Given the description of an element on the screen output the (x, y) to click on. 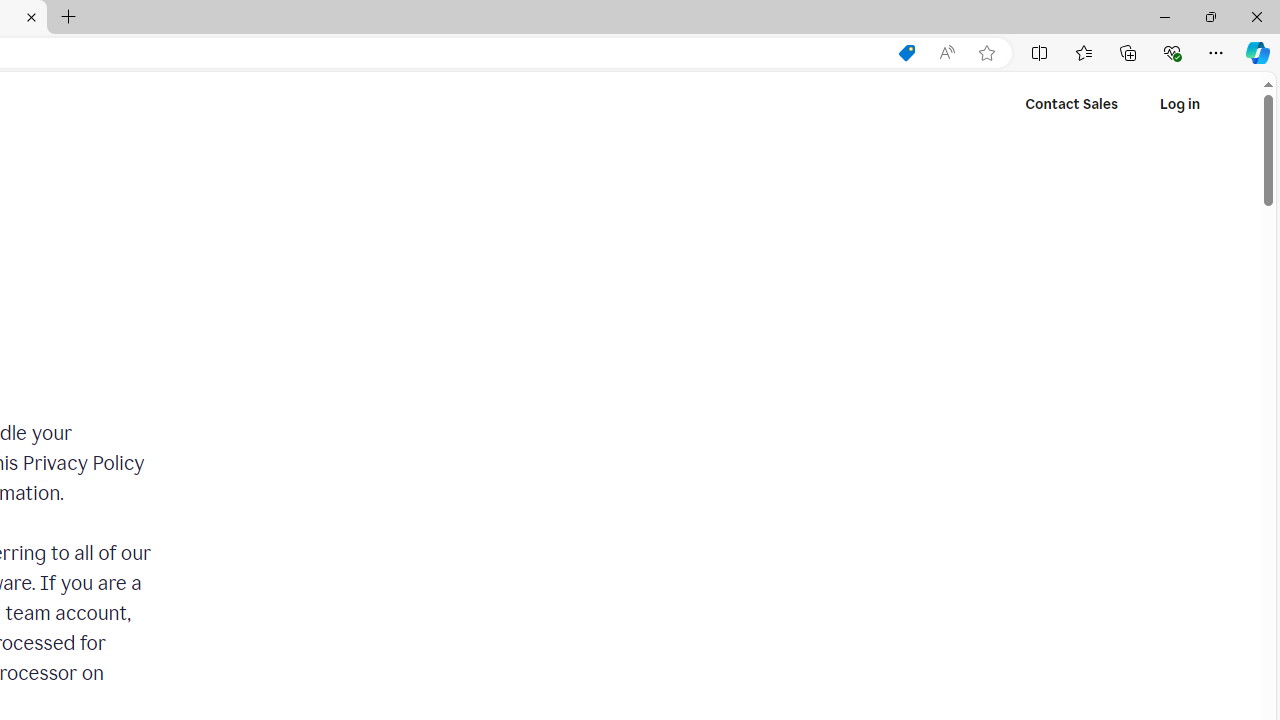
Contact Sales (1071, 103)
Log in (1179, 103)
Outlook (1258, 174)
